Given the description of an element on the screen output the (x, y) to click on. 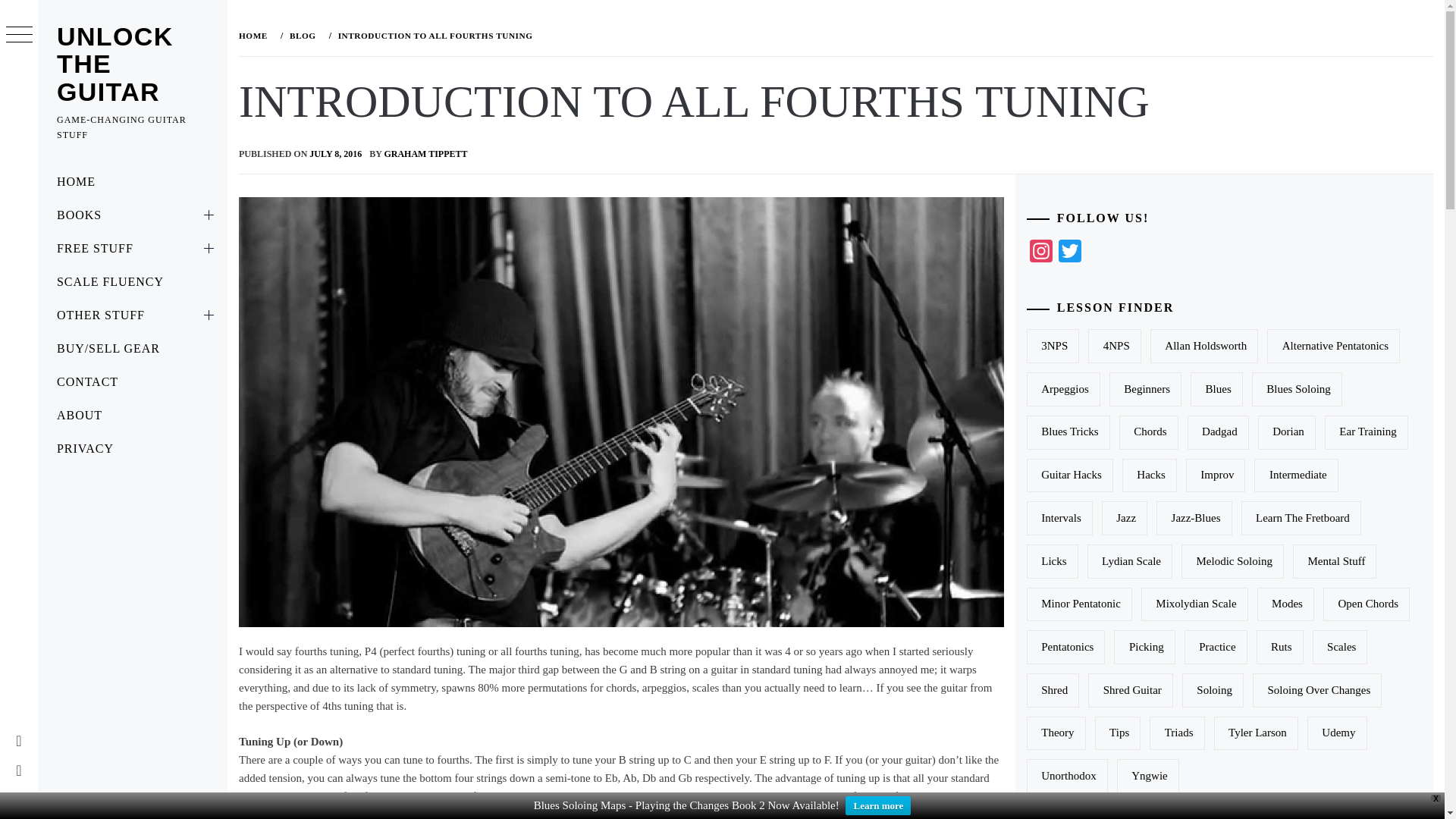
Instagram (1040, 254)
BOOKS (132, 215)
FREE STUFF (132, 248)
HOME (132, 182)
UNLOCK THE GUITAR (114, 64)
Twitter (1069, 254)
